Given the description of an element on the screen output the (x, y) to click on. 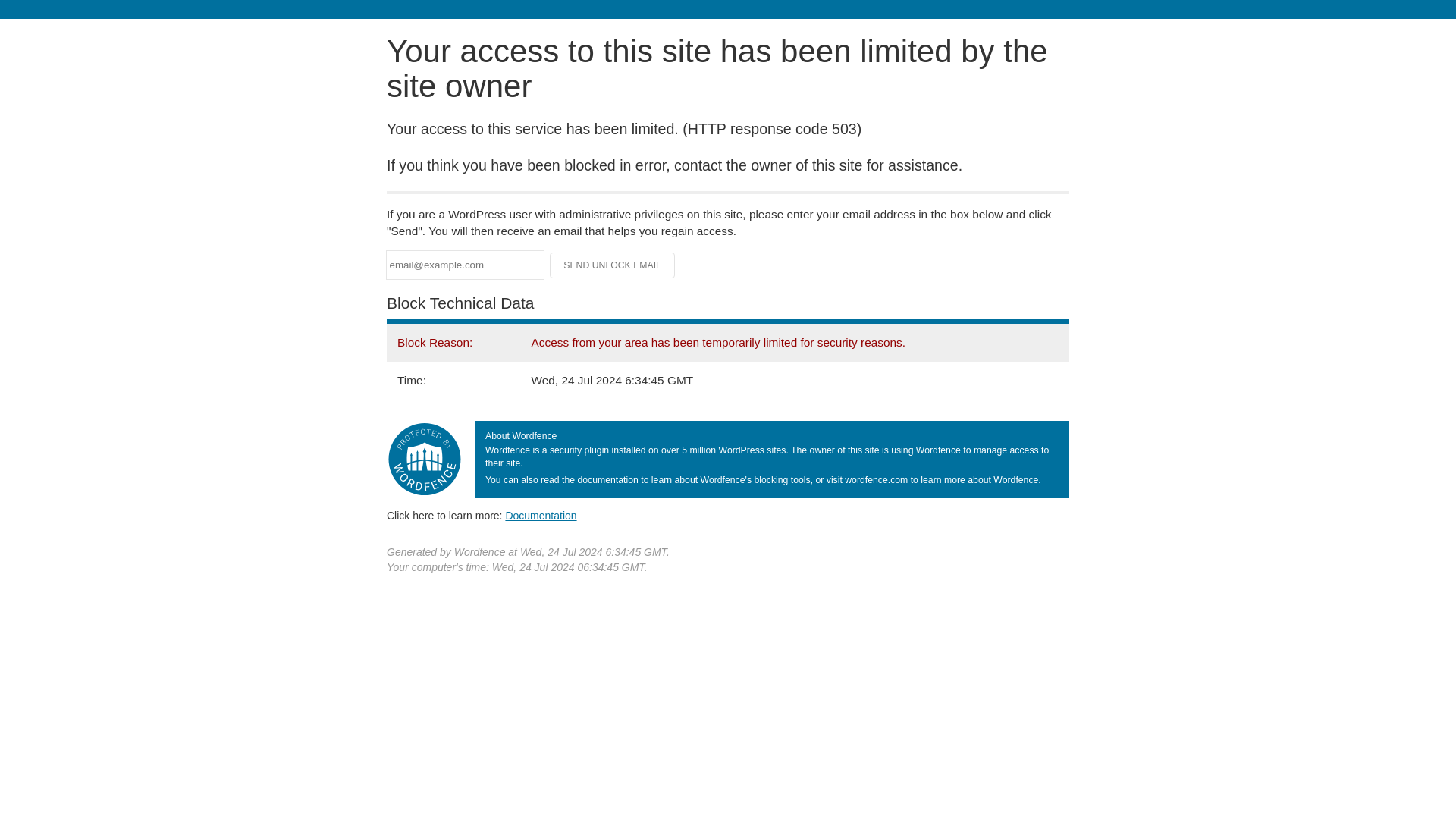
Send Unlock Email (612, 265)
Documentation (540, 515)
Send Unlock Email (612, 265)
